Given the description of an element on the screen output the (x, y) to click on. 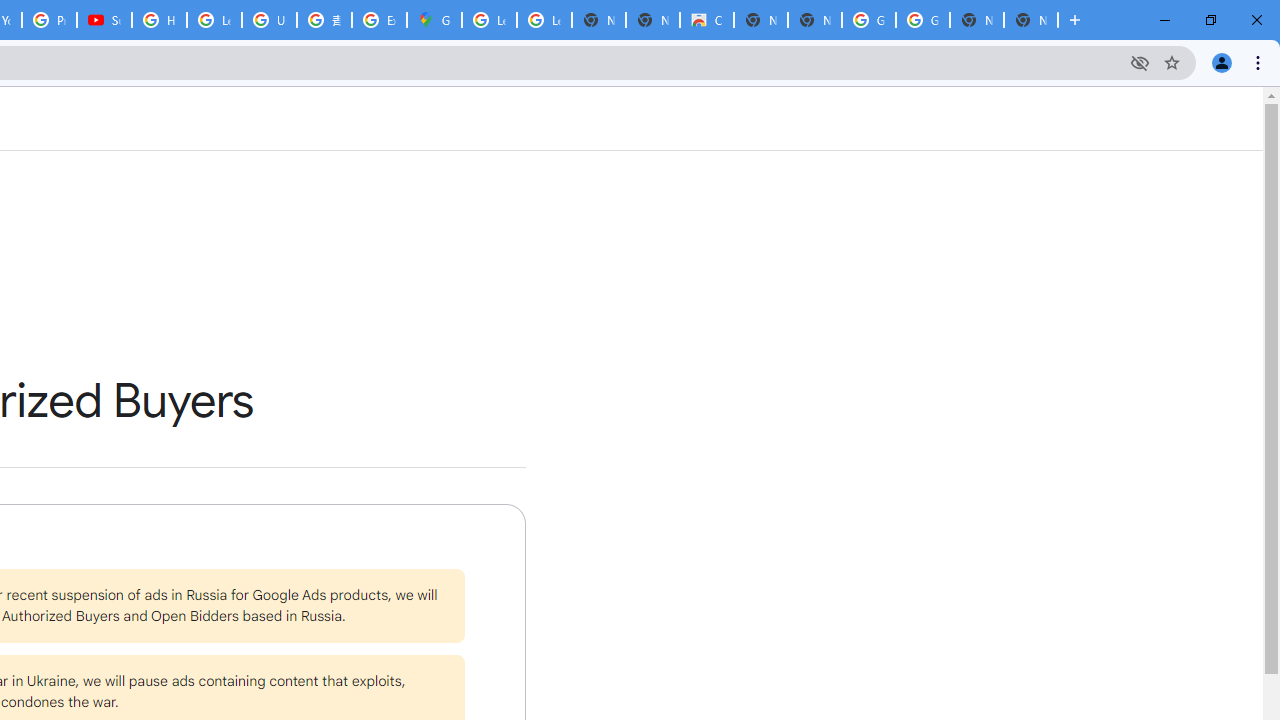
Subscriptions - YouTube (103, 20)
How Chrome protects your passwords - Google Chrome Help (158, 20)
Google Maps (434, 20)
